Given the description of an element on the screen output the (x, y) to click on. 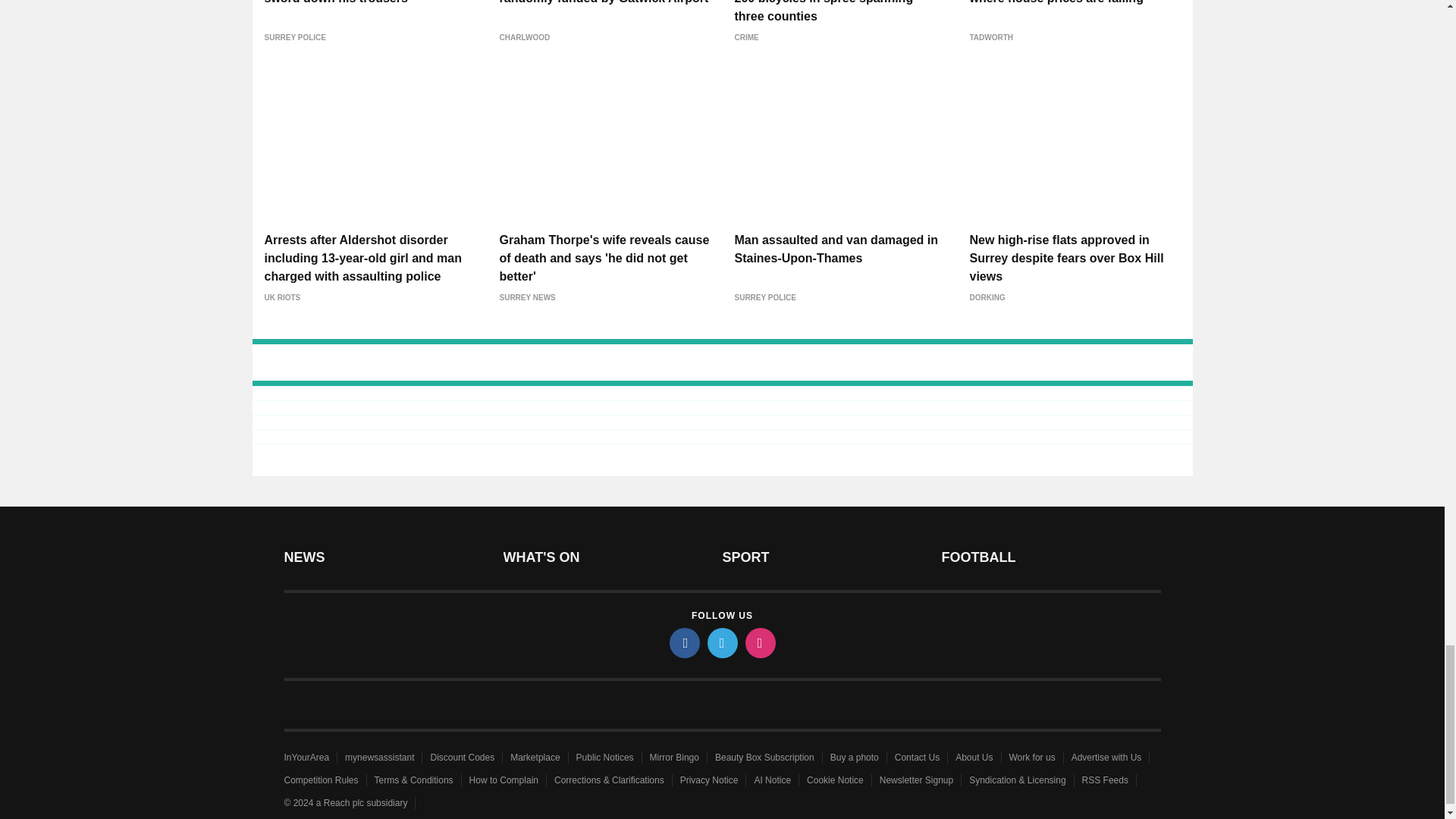
twitter (721, 643)
instagram (759, 643)
facebook (683, 643)
